Given the description of an element on the screen output the (x, y) to click on. 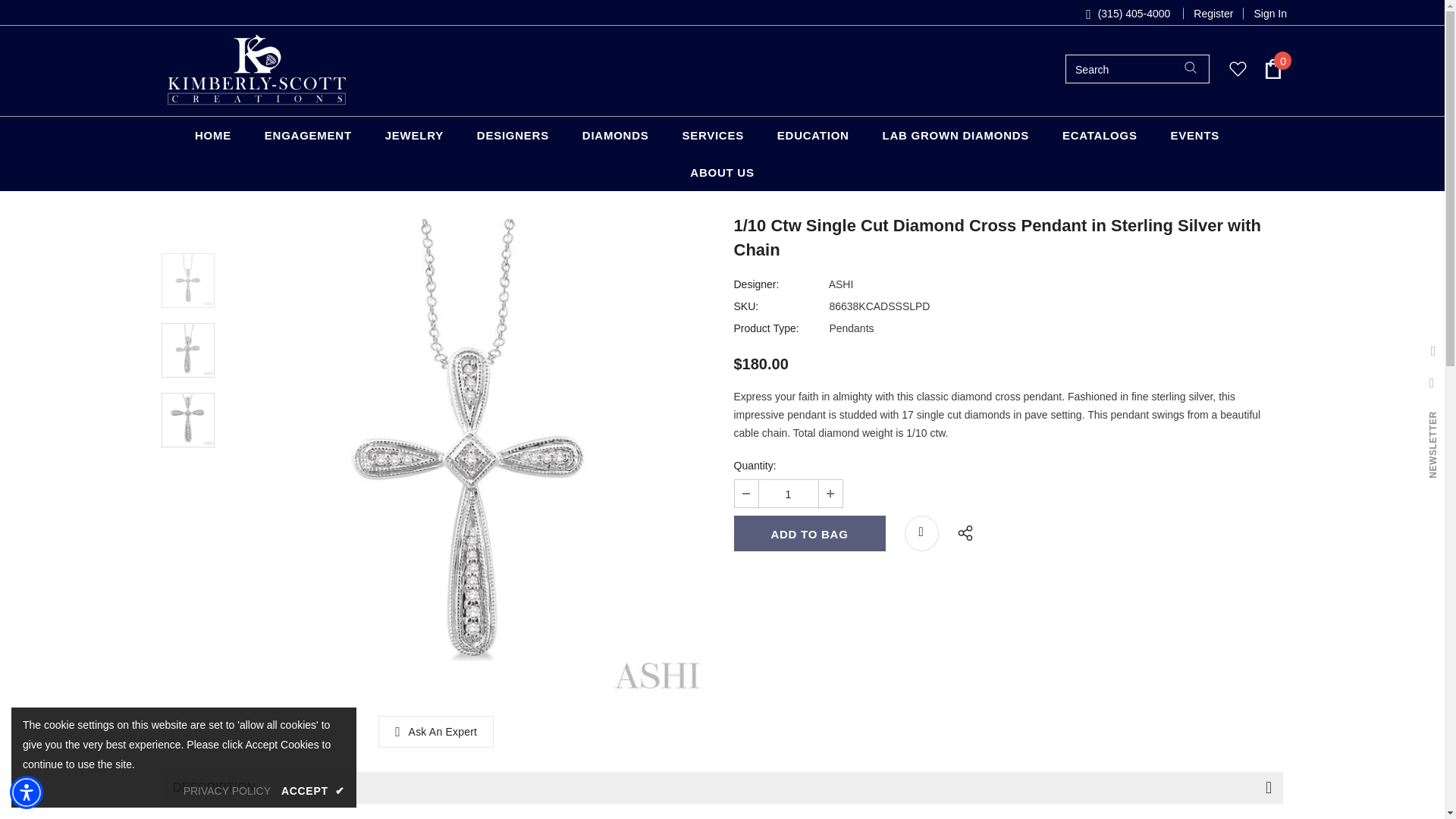
Add to Bag (809, 533)
Sign In (1265, 13)
1 (787, 492)
Accessibility Menu (26, 792)
Register (1213, 13)
